Given the description of an element on the screen output the (x, y) to click on. 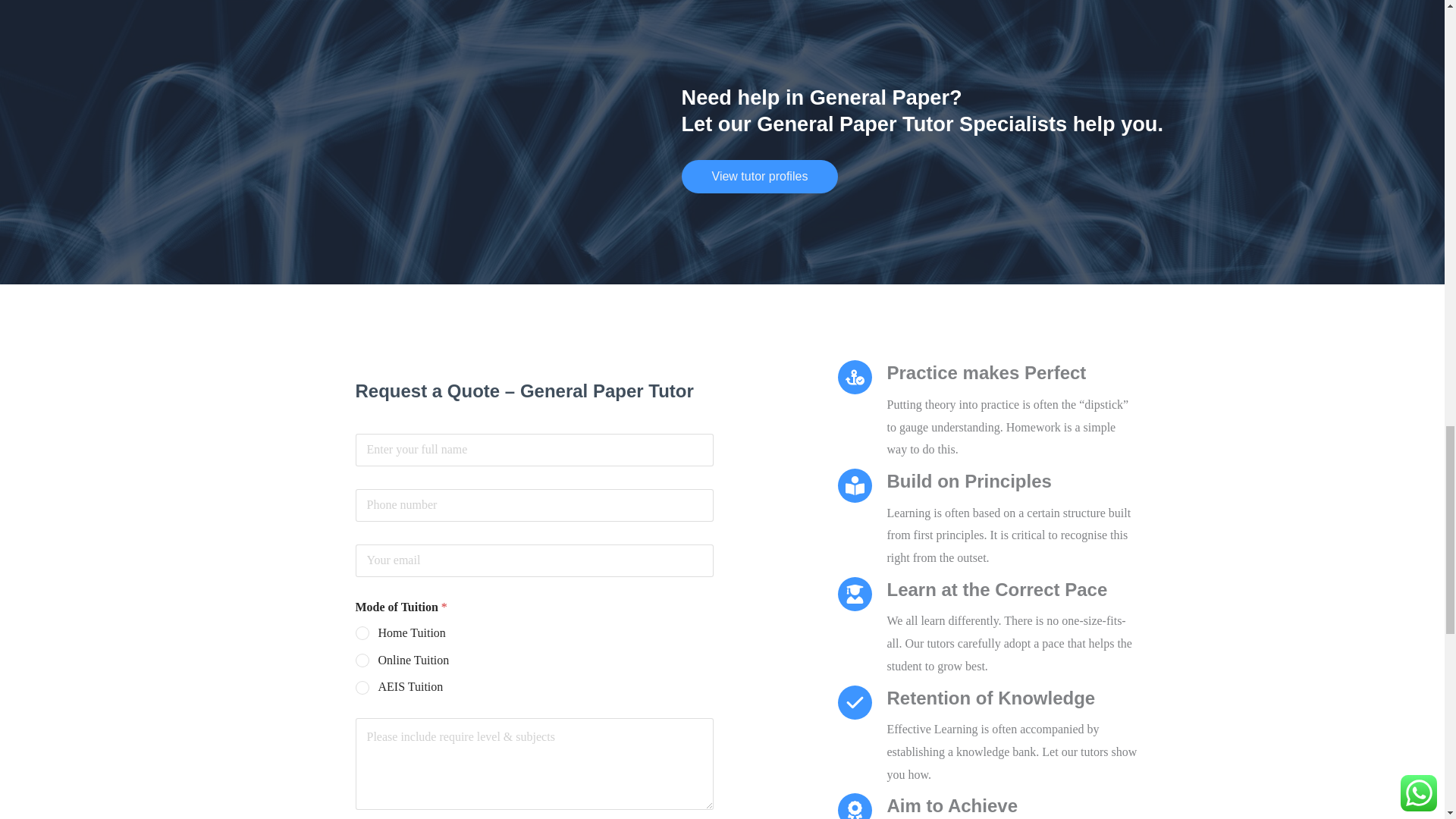
View tutor profiles (759, 176)
AEIS Tuition (362, 688)
Online Tuition (362, 661)
Home Tuition (362, 633)
